Given the description of an element on the screen output the (x, y) to click on. 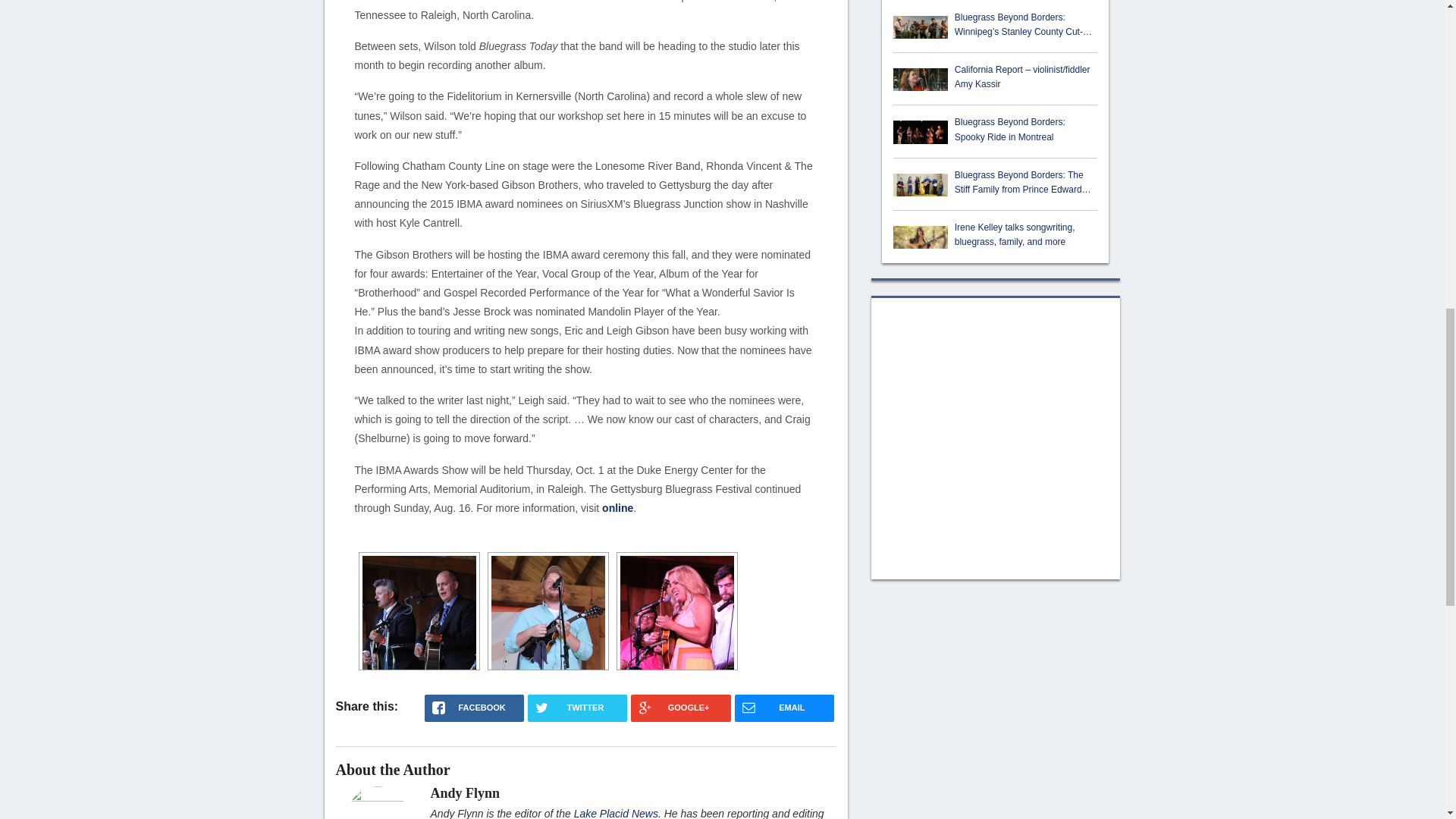
online (617, 508)
